Given the description of an element on the screen output the (x, y) to click on. 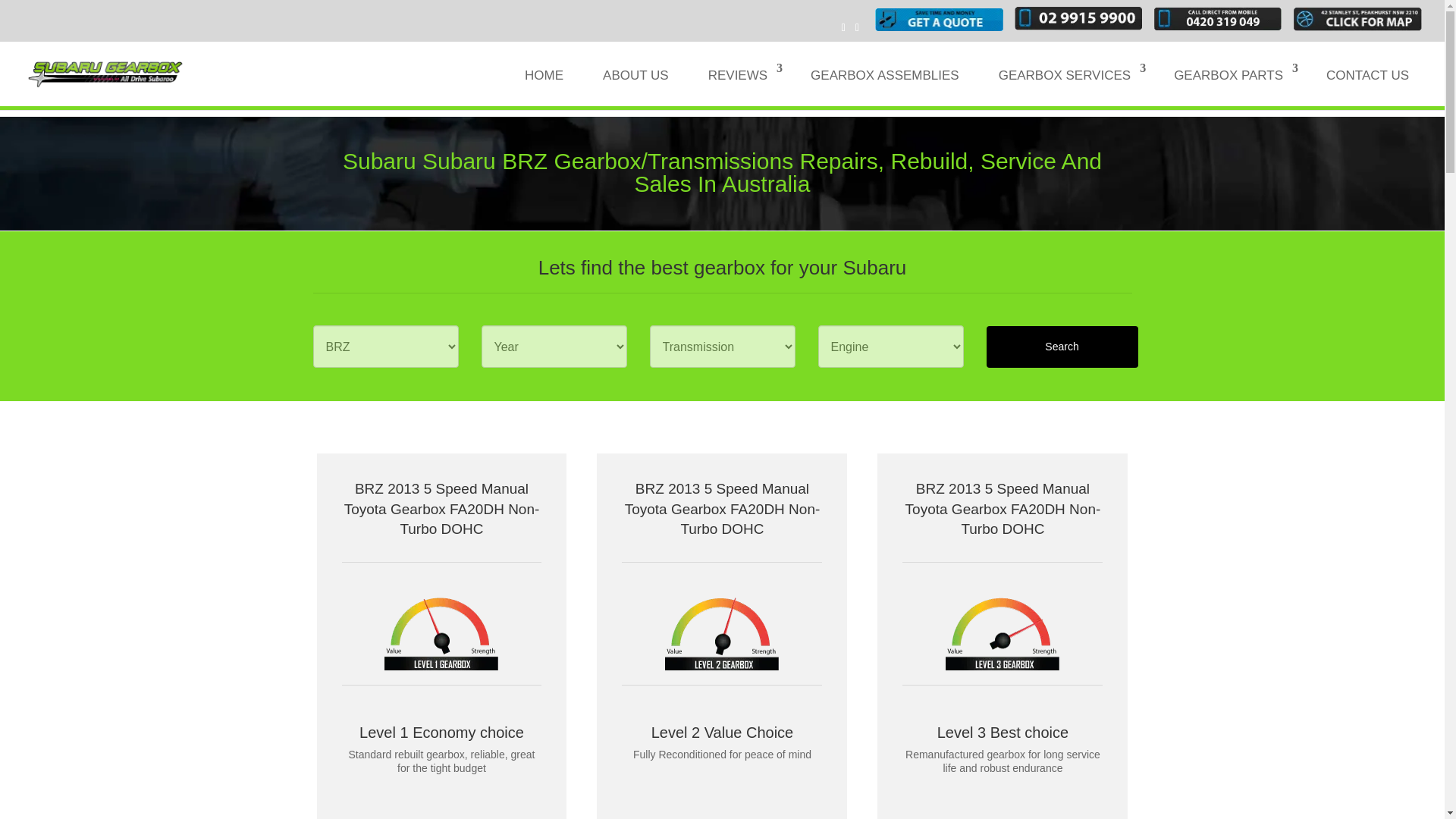
GEARBOX PARTS (1229, 84)
level1-gearbox (440, 632)
CONTACT US (1367, 84)
REVIEWS (740, 84)
ABOUT US (635, 84)
level2-gearbox (721, 632)
Search (1061, 346)
level3-gearbox (1001, 632)
GEARBOX SERVICES (1066, 84)
HOME (544, 84)
GEARBOX ASSEMBLIES (885, 84)
